Given the description of an element on the screen output the (x, y) to click on. 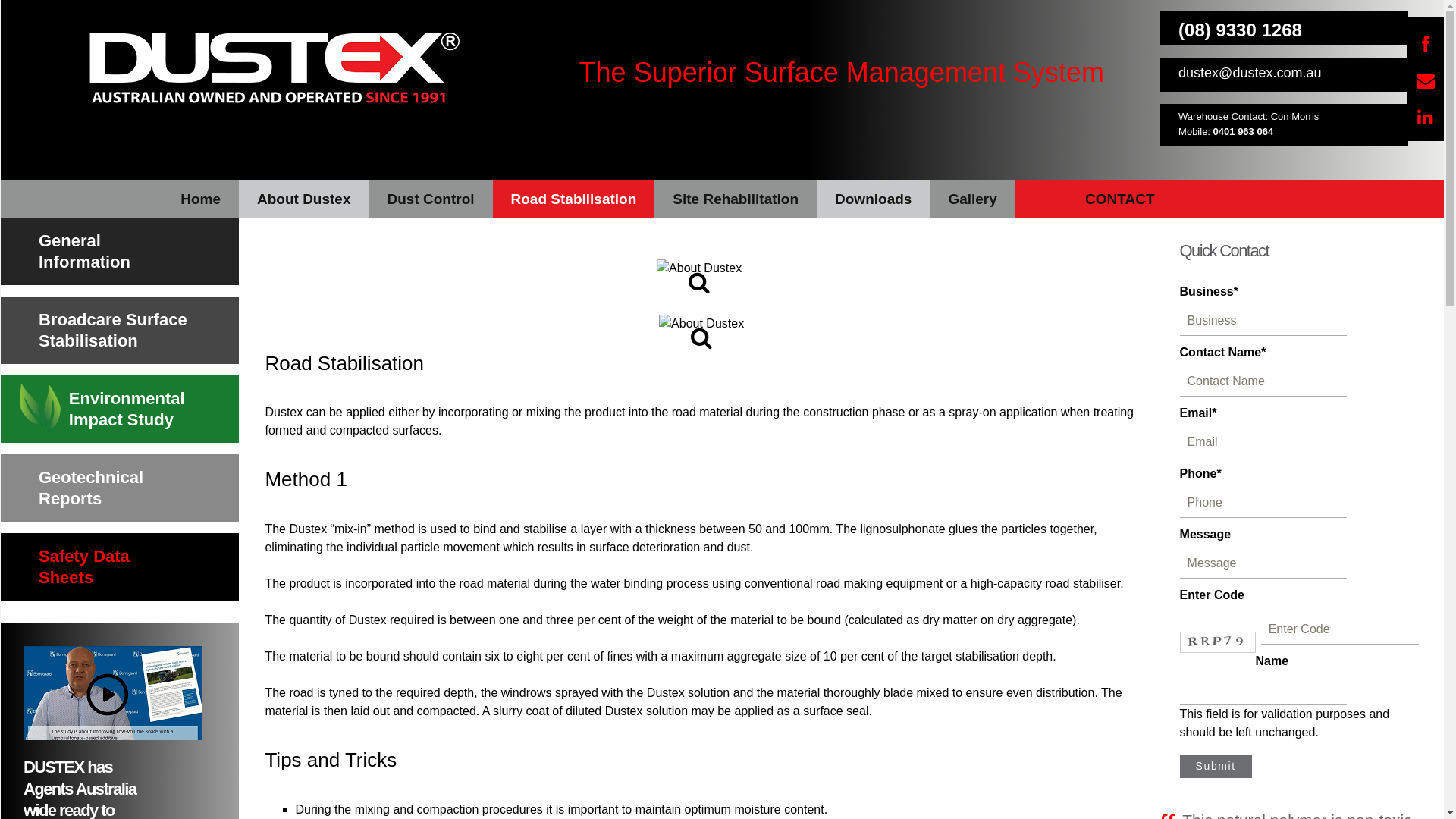
Road Stabilisation Element type: text (573, 198)
Site Rehabilitation Element type: text (735, 198)
About Dustex Element type: hover (700, 323)
Submit Element type: text (1215, 766)
Skip to content Element type: text (0, 179)
Broadcare Surface
Stabilisation Element type: text (119, 330)
Gallery Element type: text (971, 198)
Geotechnical
Reports Element type: text (119, 487)
0401 963 064 Element type: text (1243, 131)
dustex@dustex.com.au Element type: text (1249, 72)
CONTACT Element type: text (1119, 198)
About Dustex Element type: hover (698, 268)
Dust Control Element type: text (430, 198)
General
Information Element type: text (119, 251)
(08) 9330 1268 Element type: text (1240, 29)
Safety Data
Sheets Element type: text (119, 566)
Environmental
Impact Study Element type: text (119, 409)
Downloads Element type: text (872, 198)
Home Element type: text (119, 198)
About Dustex Element type: text (303, 198)
